Given the description of an element on the screen output the (x, y) to click on. 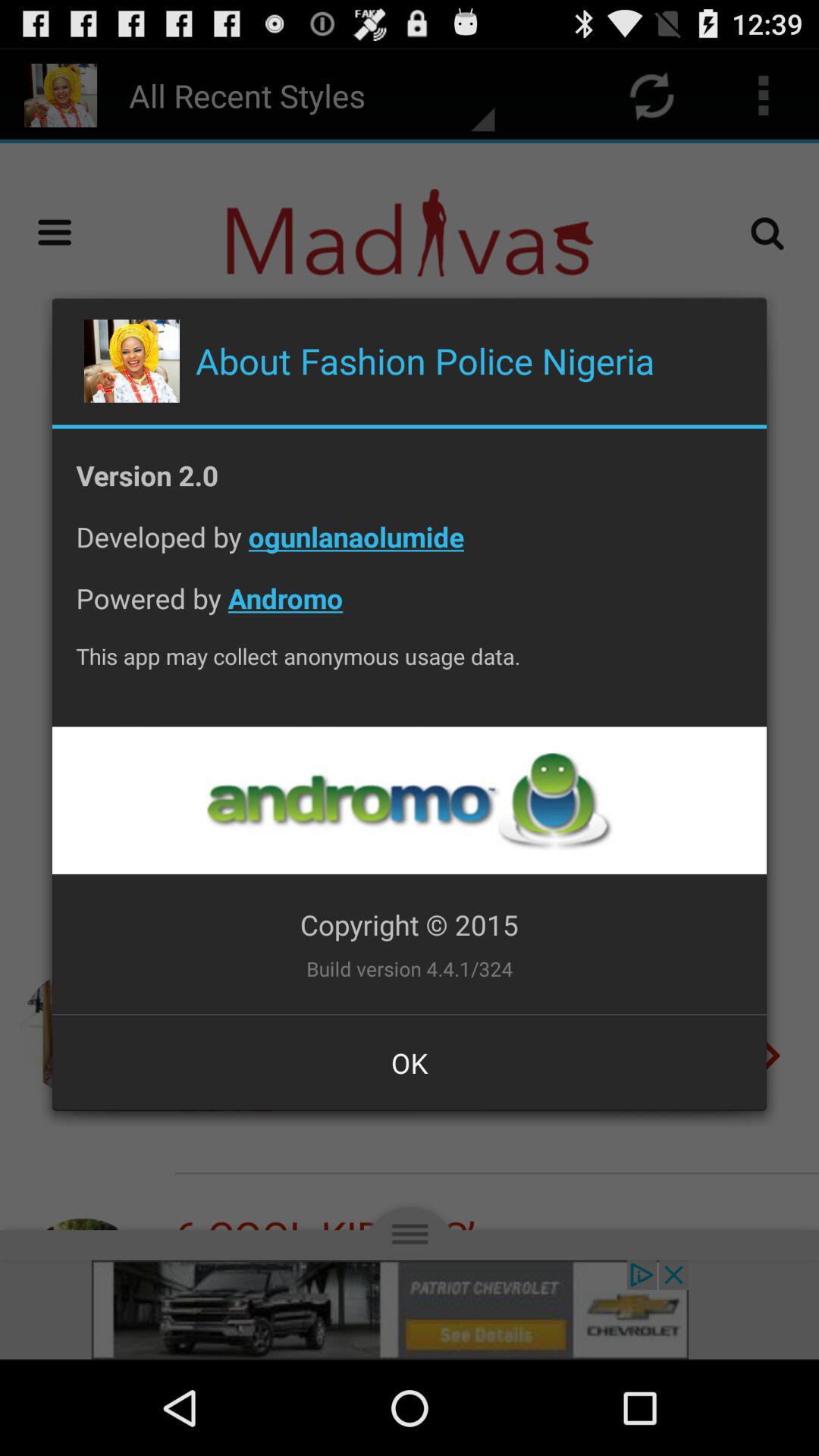
swipe until ok item (409, 1062)
